Given the description of an element on the screen output the (x, y) to click on. 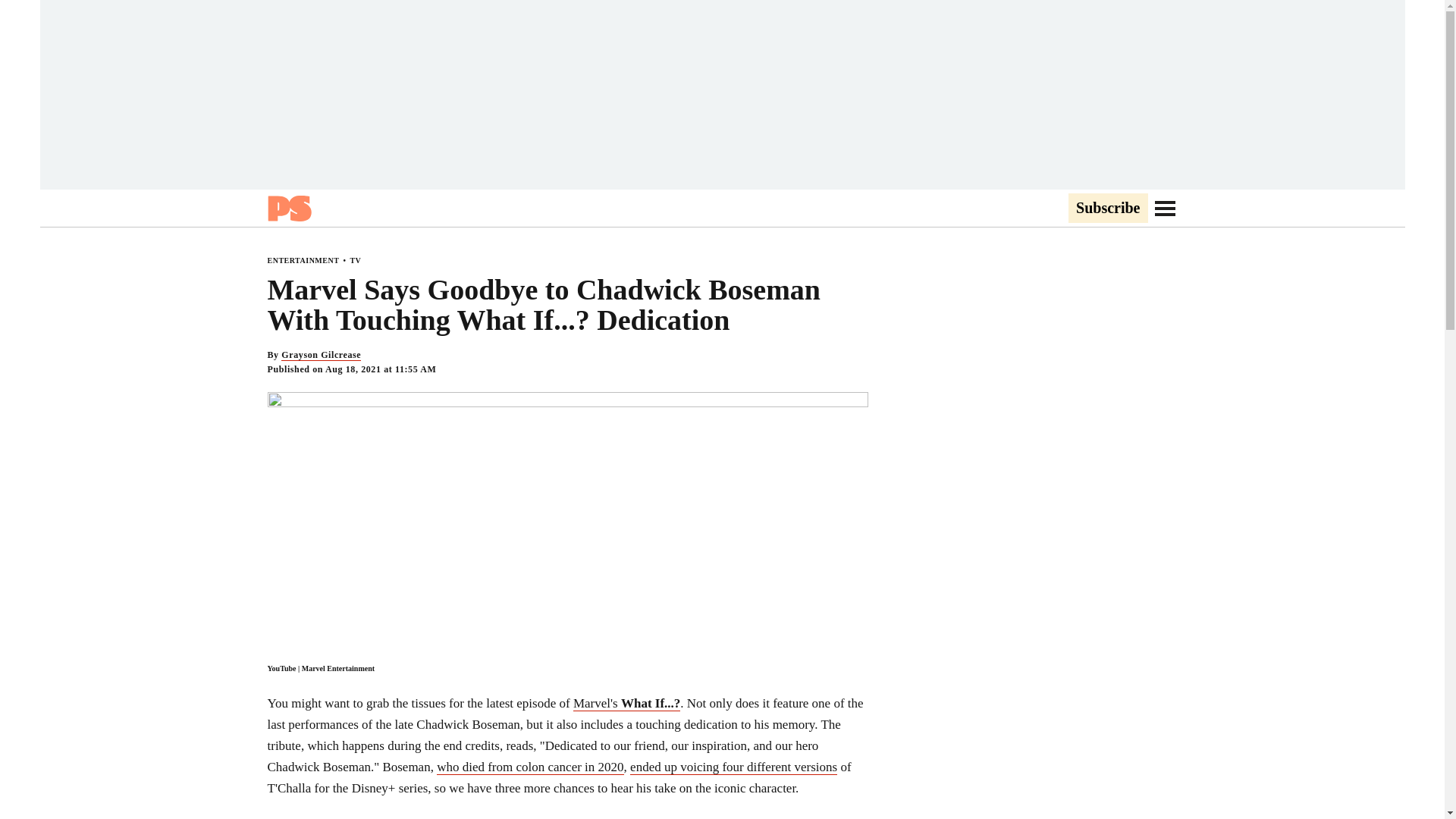
ended up voicing four different versions (733, 767)
Go to Navigation (1164, 207)
who died from colon cancer in 2020 (529, 767)
Grayson Gilcrease (321, 355)
Marvel's What If...? (626, 703)
Subscribe (1107, 208)
Popsugar (288, 208)
TV (355, 260)
Go to Navigation (1164, 207)
